Given the description of an element on the screen output the (x, y) to click on. 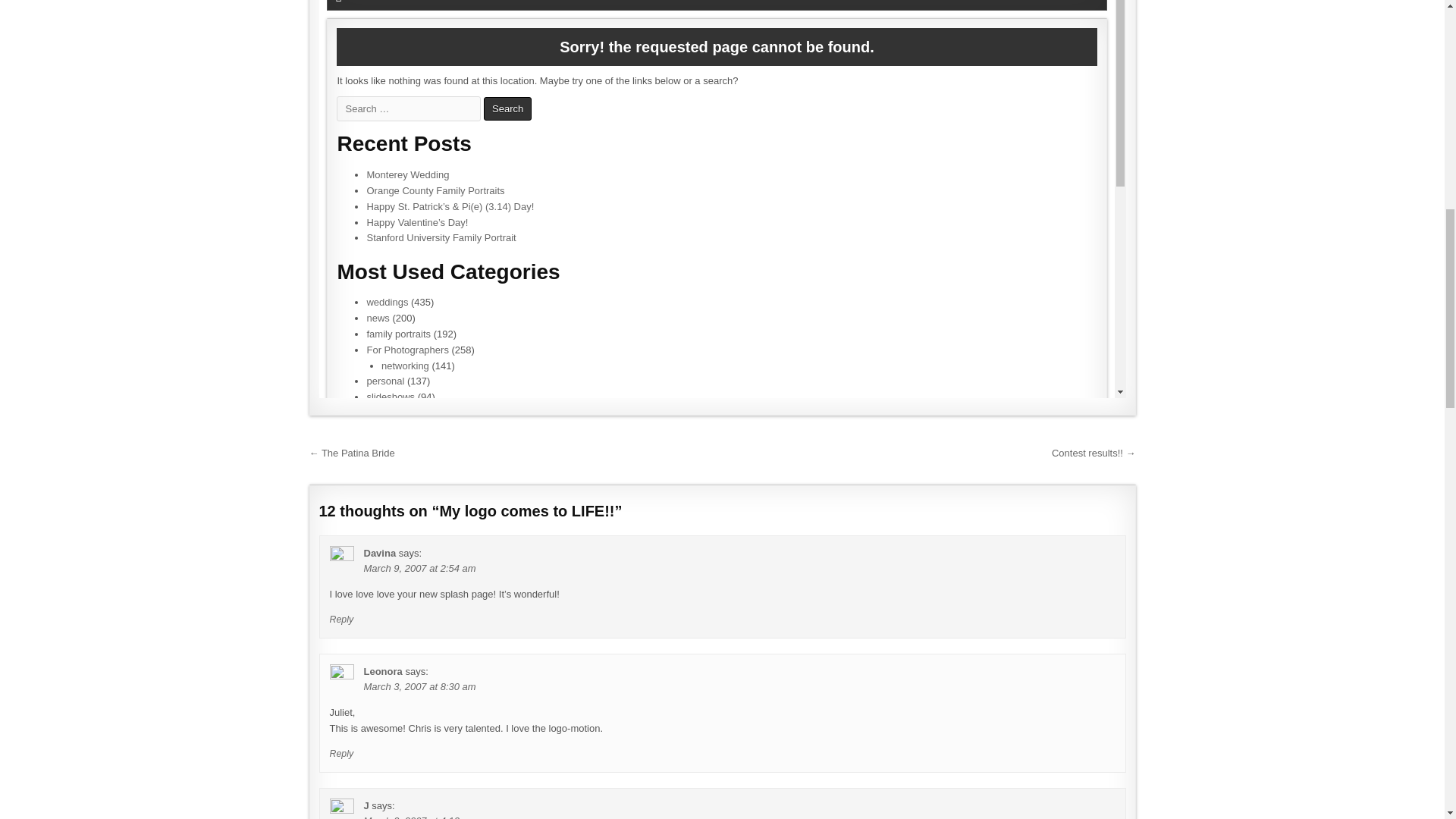
Davina (380, 552)
Leonora (383, 671)
Reply (341, 619)
Reply (341, 753)
March 2, 2007 at 4:13 am (420, 816)
March 3, 2007 at 8:30 am (420, 686)
March 9, 2007 at 2:54 am (420, 568)
